Given the description of an element on the screen output the (x, y) to click on. 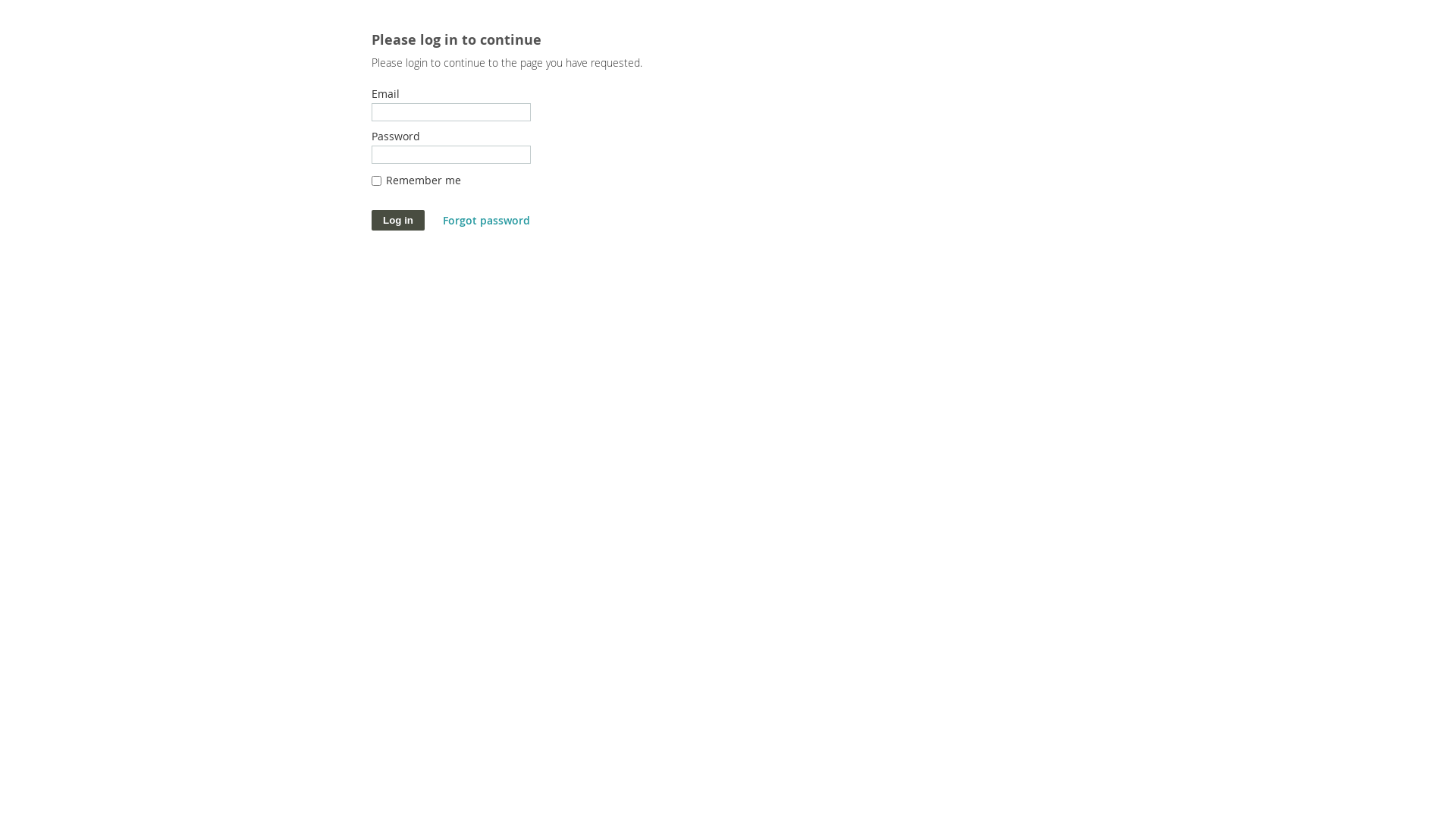
Forgot password Element type: text (486, 220)
Log in Element type: text (397, 220)
